Given the description of an element on the screen output the (x, y) to click on. 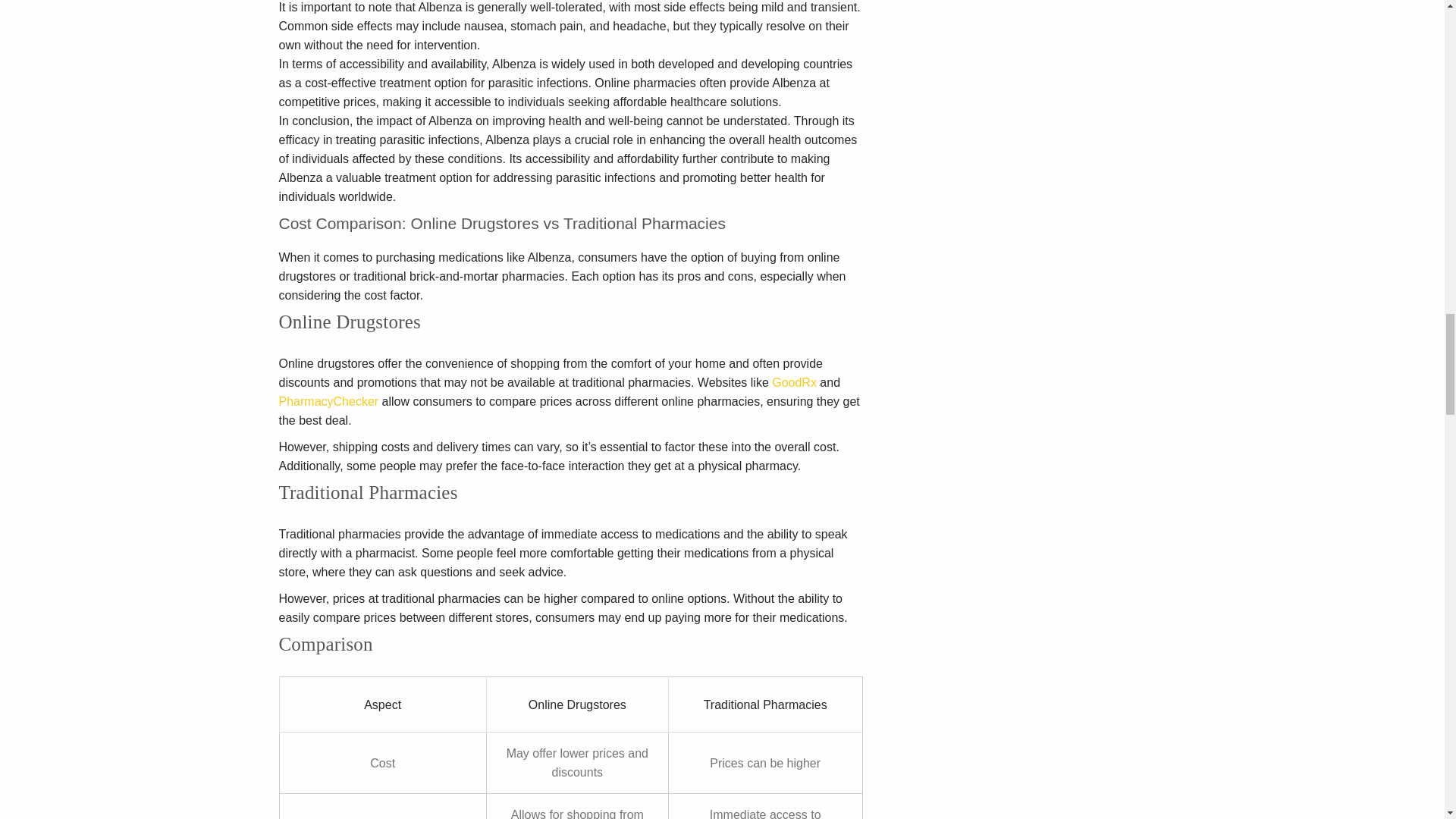
PharmacyChecker (328, 400)
GoodRx (793, 382)
